Given the description of an element on the screen output the (x, y) to click on. 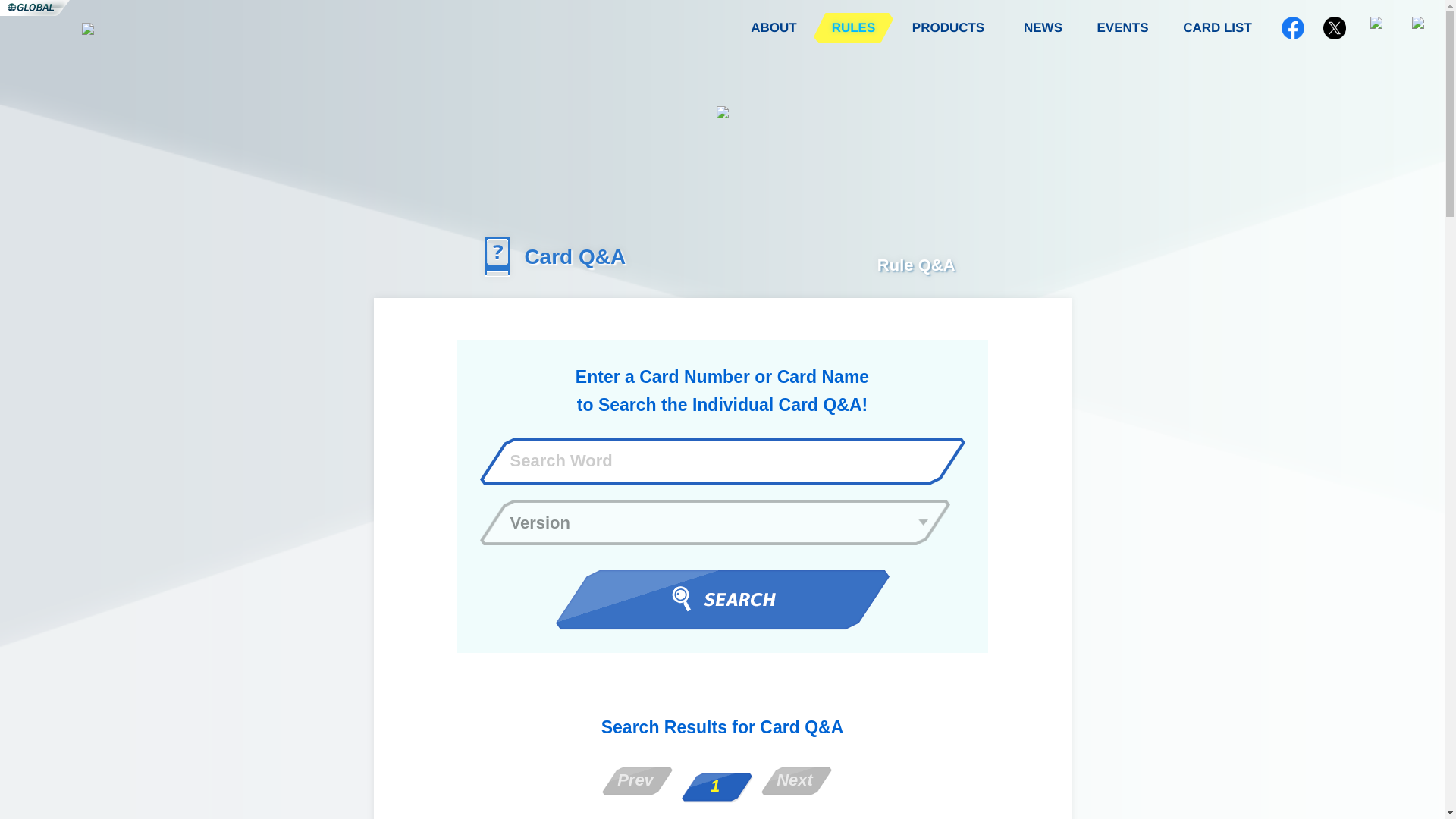
NEWS (1043, 28)
RULES (853, 28)
PRODUCTS (948, 28)
EVENTS (1122, 28)
CARD LIST (1216, 28)
Next (796, 780)
Prev (636, 780)
ABOUT (773, 28)
1 (717, 787)
